Given the description of an element on the screen output the (x, y) to click on. 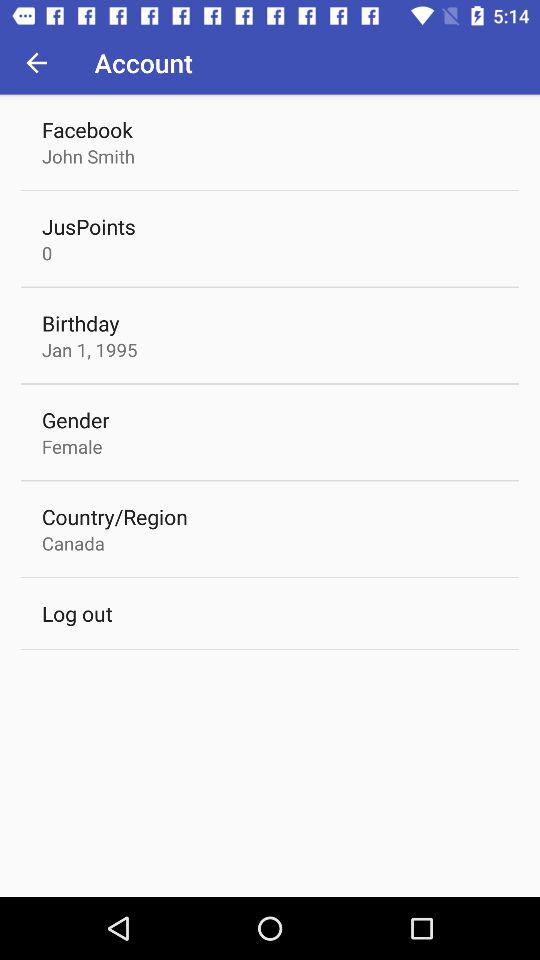
tap icon above facebook icon (36, 62)
